Given the description of an element on the screen output the (x, y) to click on. 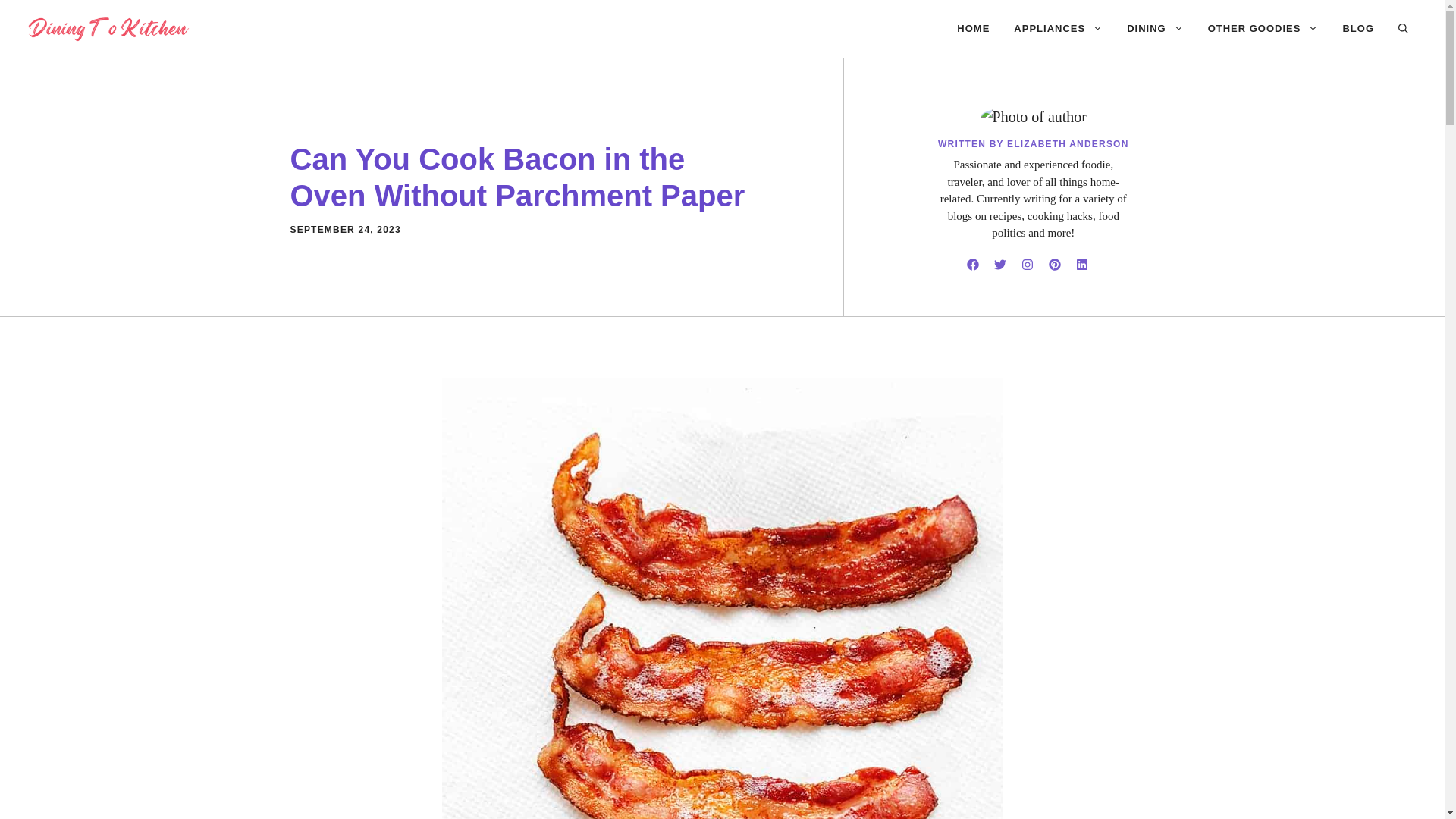
DINING (1155, 28)
APPLIANCES (1058, 28)
HOME (972, 28)
OTHER GOODIES (1262, 28)
BLOG (1358, 28)
